Given the description of an element on the screen output the (x, y) to click on. 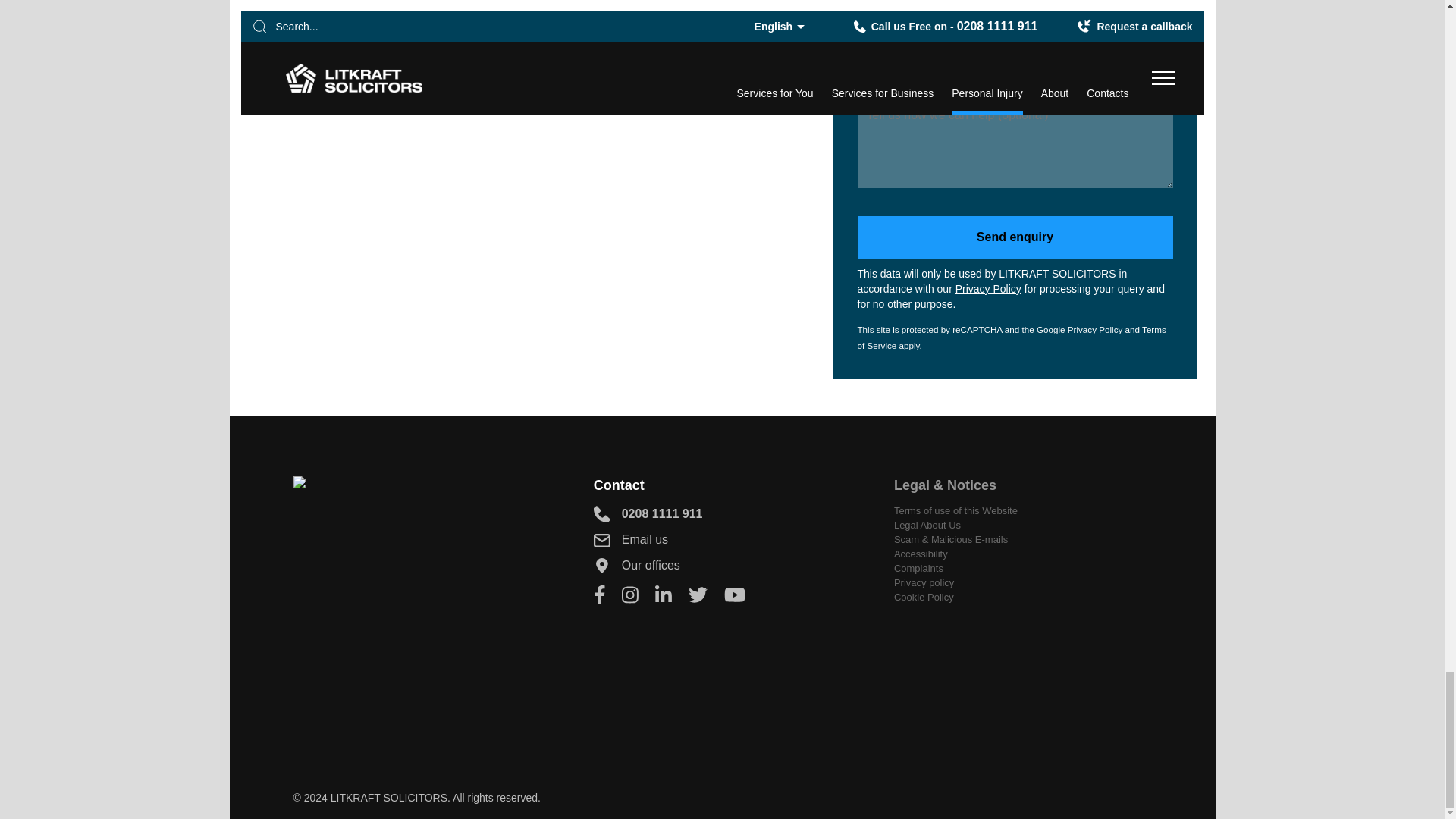
Send enquiry (1014, 237)
